Given the description of an element on the screen output the (x, y) to click on. 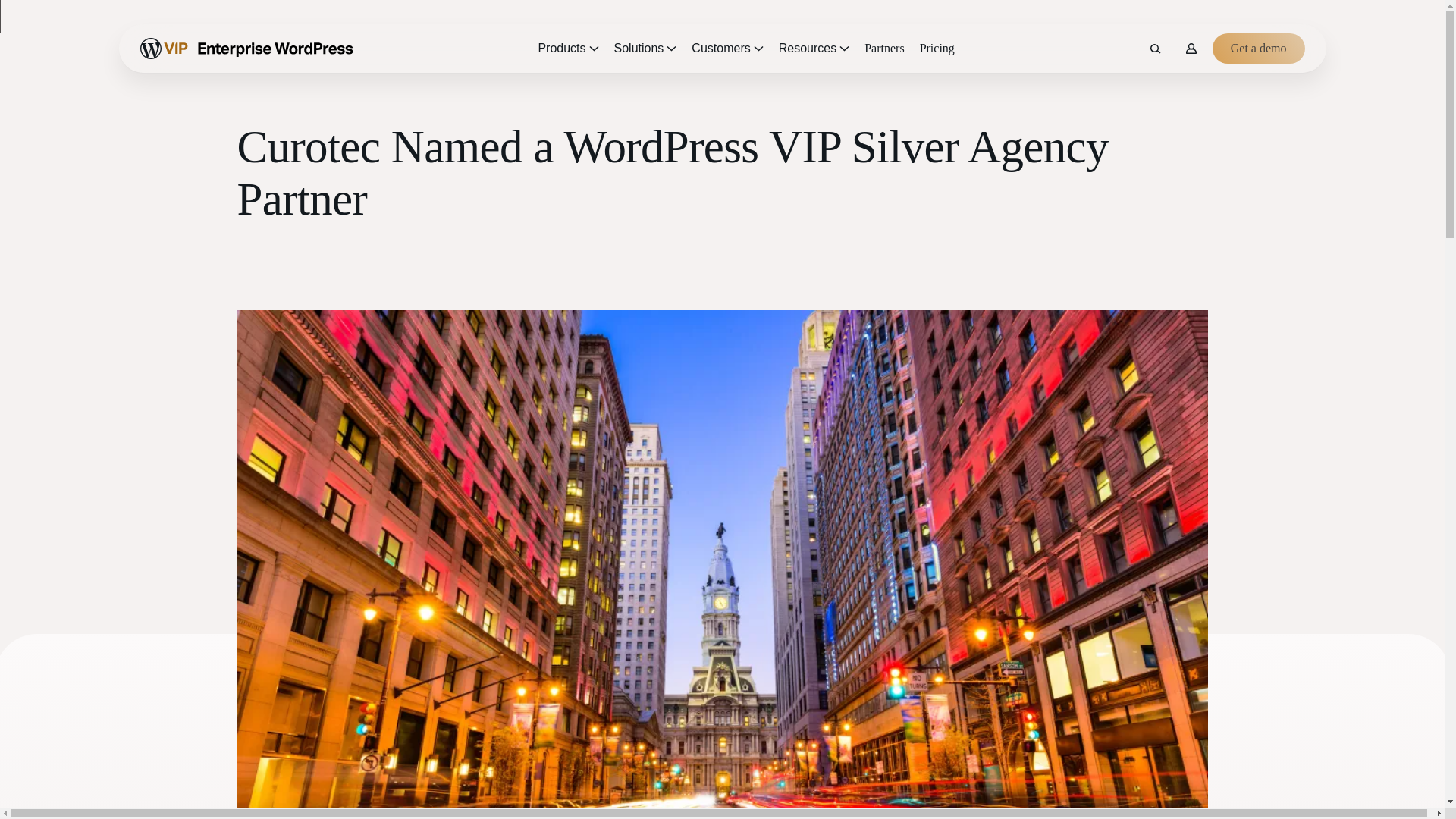
Products (567, 48)
Pricing (937, 48)
Partners (884, 48)
Customers (726, 48)
Solutions (645, 48)
Resources (813, 48)
Get a demo (1258, 48)
